Given the description of an element on the screen output the (x, y) to click on. 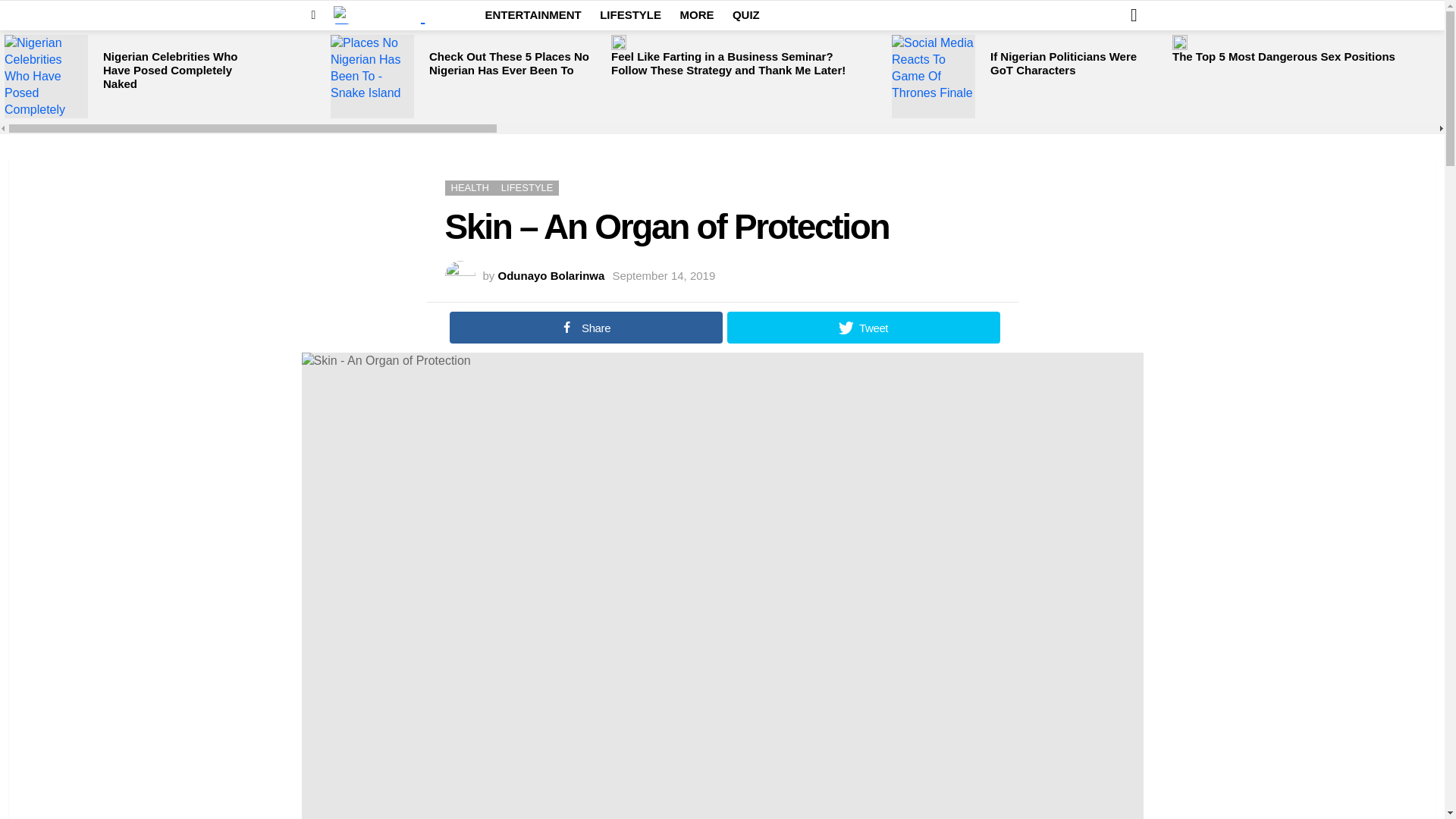
The Top 5 Most Dangerous Sex Positions (1180, 42)
If Nigerian Politicians Were GoT Characters (933, 76)
Check Out These 5 Places No Nigerian Has Ever Been To (371, 76)
Menu (313, 14)
MORE (695, 15)
ENTERTAINMENT (533, 15)
If Nigerian Politicians Were GoT Characters (1063, 62)
LIFESTYLE (630, 15)
